Given the description of an element on the screen output the (x, y) to click on. 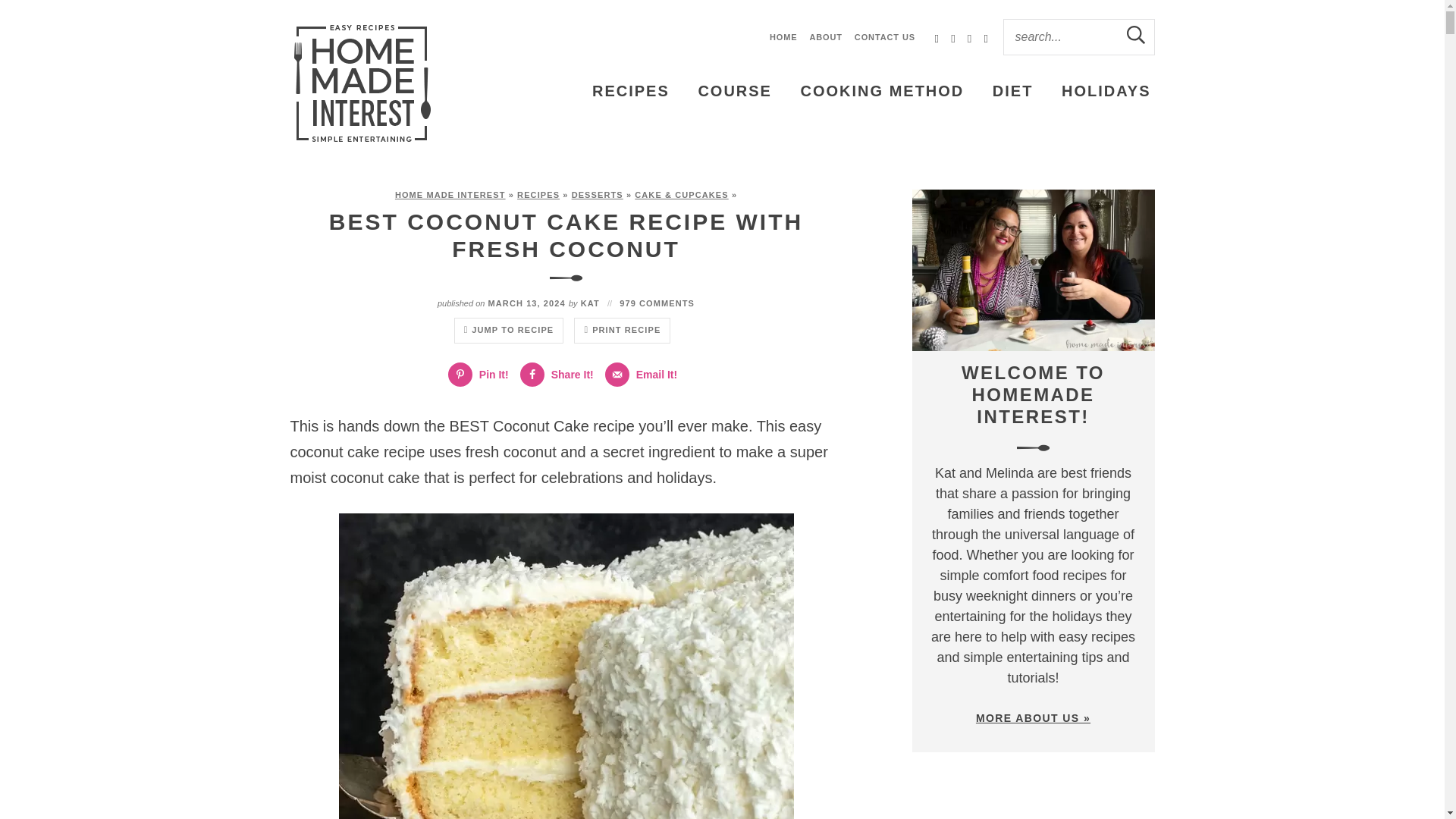
HOME MADE INTEREST (449, 194)
Send over email (644, 374)
HOME (783, 36)
DIET (1013, 90)
More About Us (1032, 270)
HOLIDAYS (1105, 90)
RECIPES (630, 90)
CONTACT US (884, 36)
COURSE (734, 90)
COOKING METHOD (882, 90)
